Given the description of an element on the screen output the (x, y) to click on. 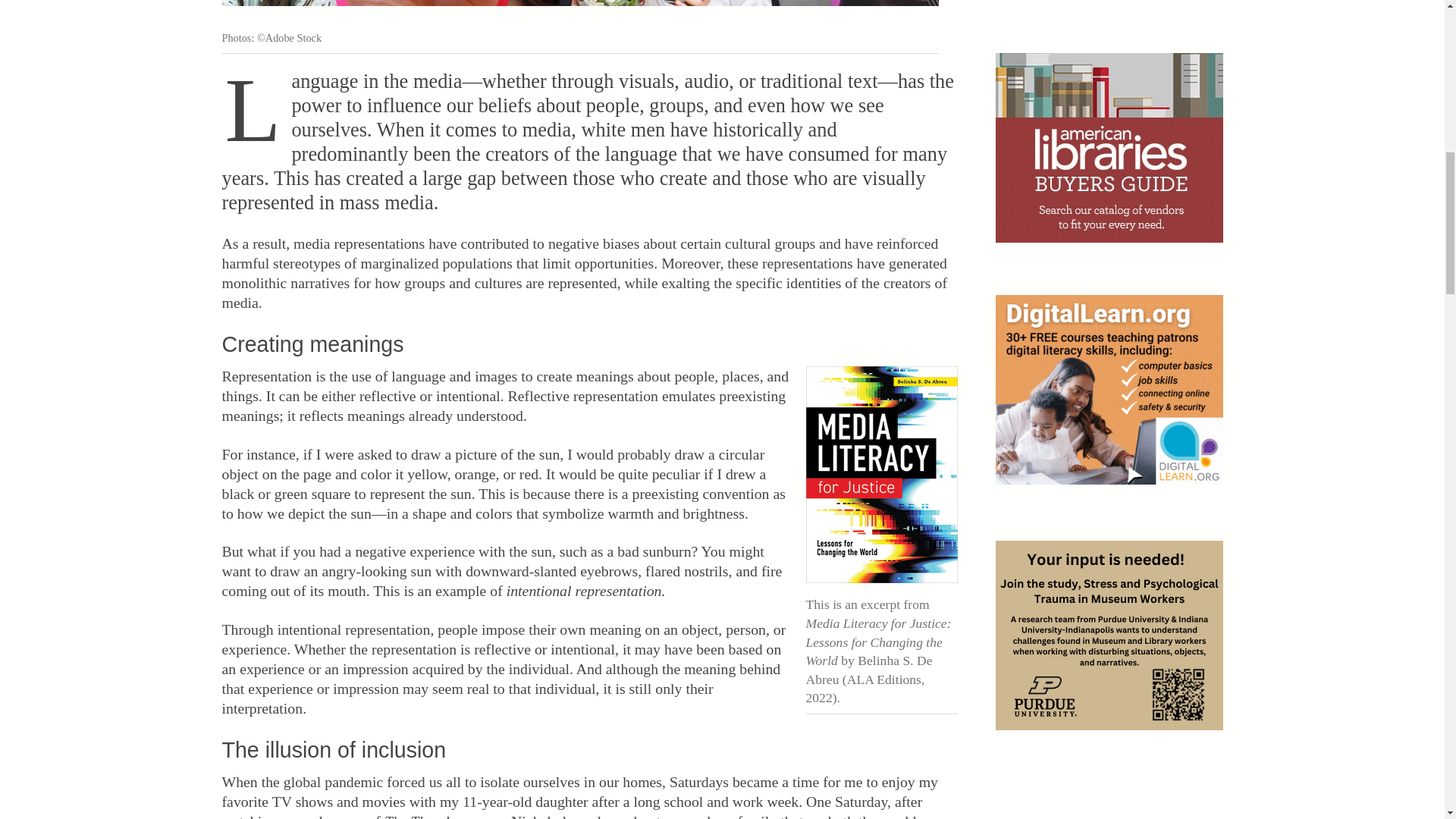
Click here for more information (1108, 389)
Click here for more information (1108, 635)
